Given the description of an element on the screen output the (x, y) to click on. 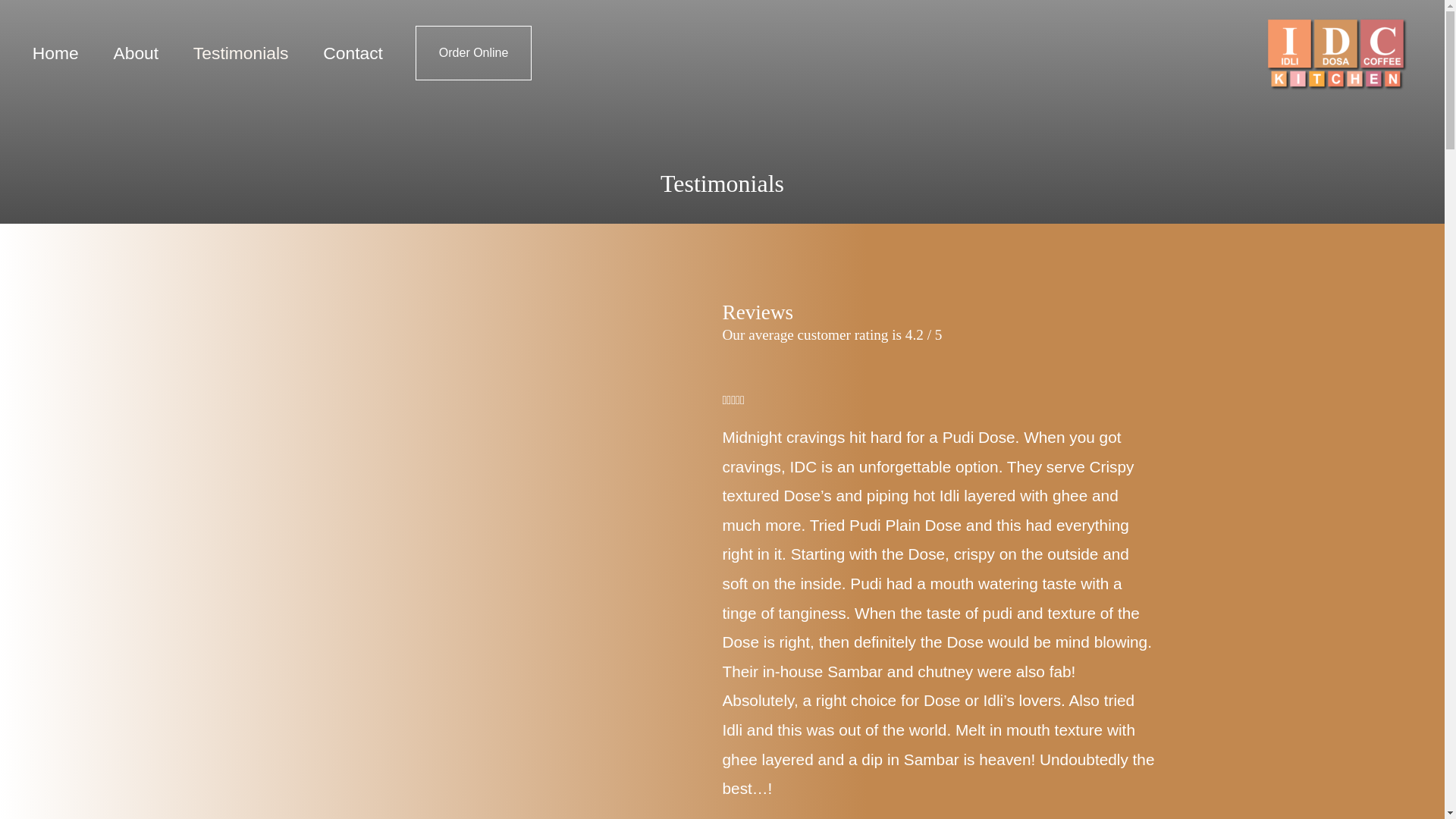
About (136, 52)
Order Online (473, 52)
Home (55, 52)
Contact (351, 52)
Testimonials (240, 52)
